Given the description of an element on the screen output the (x, y) to click on. 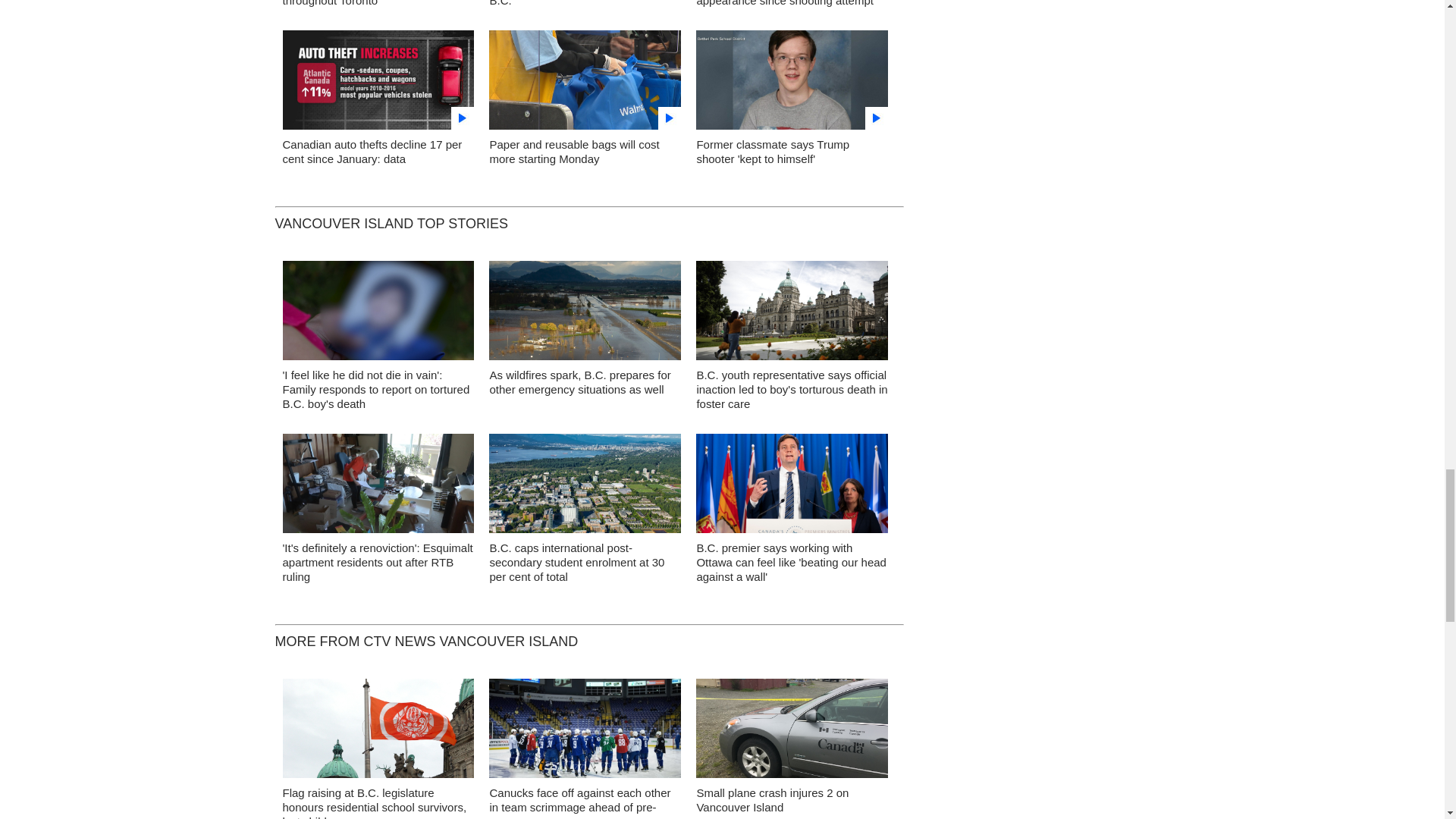
Ilene Kucolyn  (378, 487)
false (378, 79)
Colby (378, 314)
BC Legislature (791, 314)
Canadian auto thefts decline 17 per cent since January: data (371, 151)
Several dozen new fires ignited in B.C. (574, 3)
Trump makes second public appearance since shooting attempt (784, 3)
WATCH: Aerial views of flooding throughout Toronto (363, 3)
CTV National News: Slamming breaks on car thefts (378, 84)
B.C. paper and reusable bag fees (585, 84)
Atmospheric river (585, 315)
Thomas Matthew Crooks (791, 84)
